Given the description of an element on the screen output the (x, y) to click on. 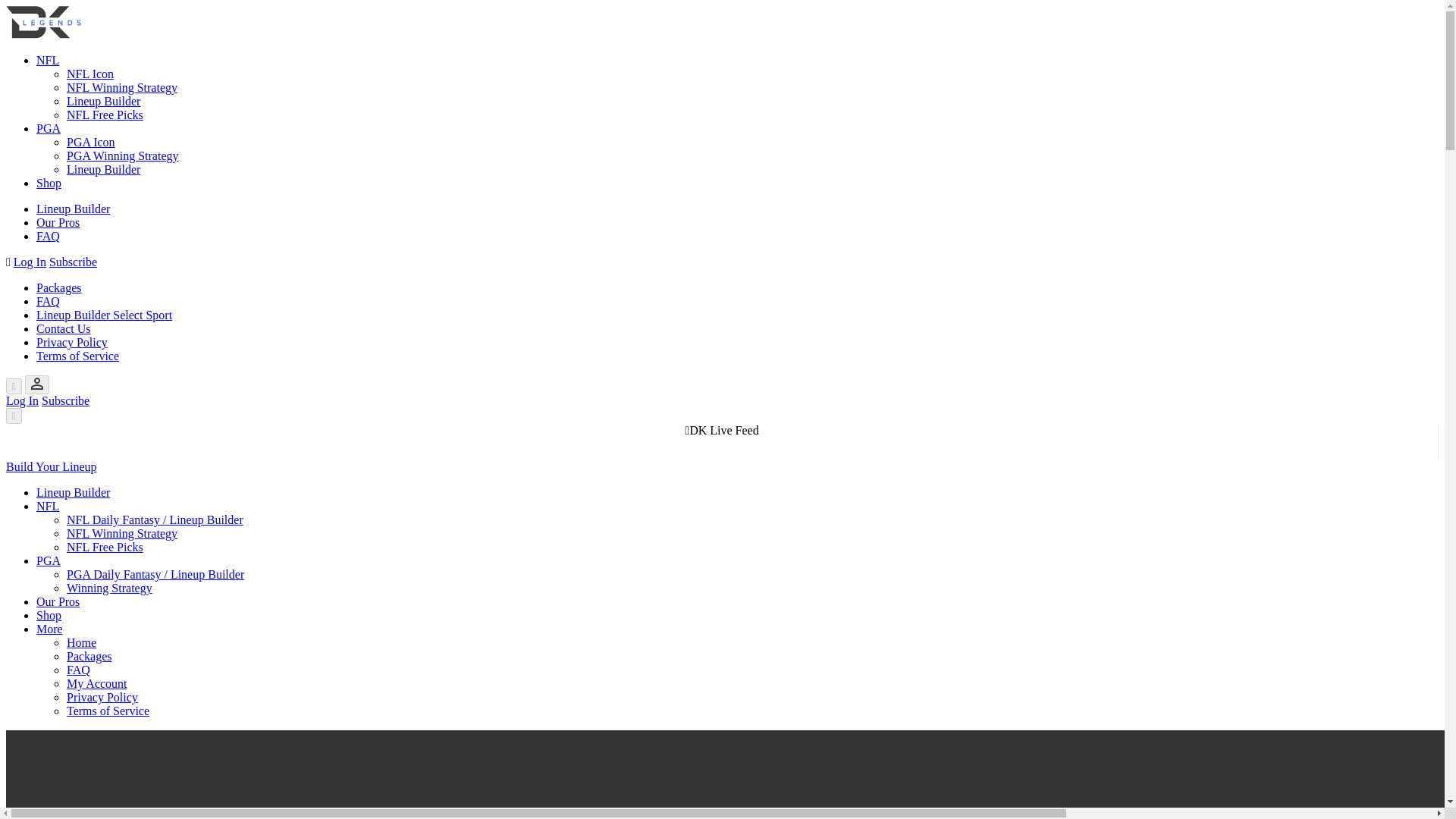
NFL Free Picks (104, 114)
PGA (48, 560)
Shop (48, 615)
NFL Free Picks (104, 546)
Lineup Builder Select Sport (103, 314)
DK Live Feed (721, 430)
Subscribe (65, 400)
Log In (22, 400)
Build Your Lineup (51, 466)
Log In (29, 261)
